Given the description of an element on the screen output the (x, y) to click on. 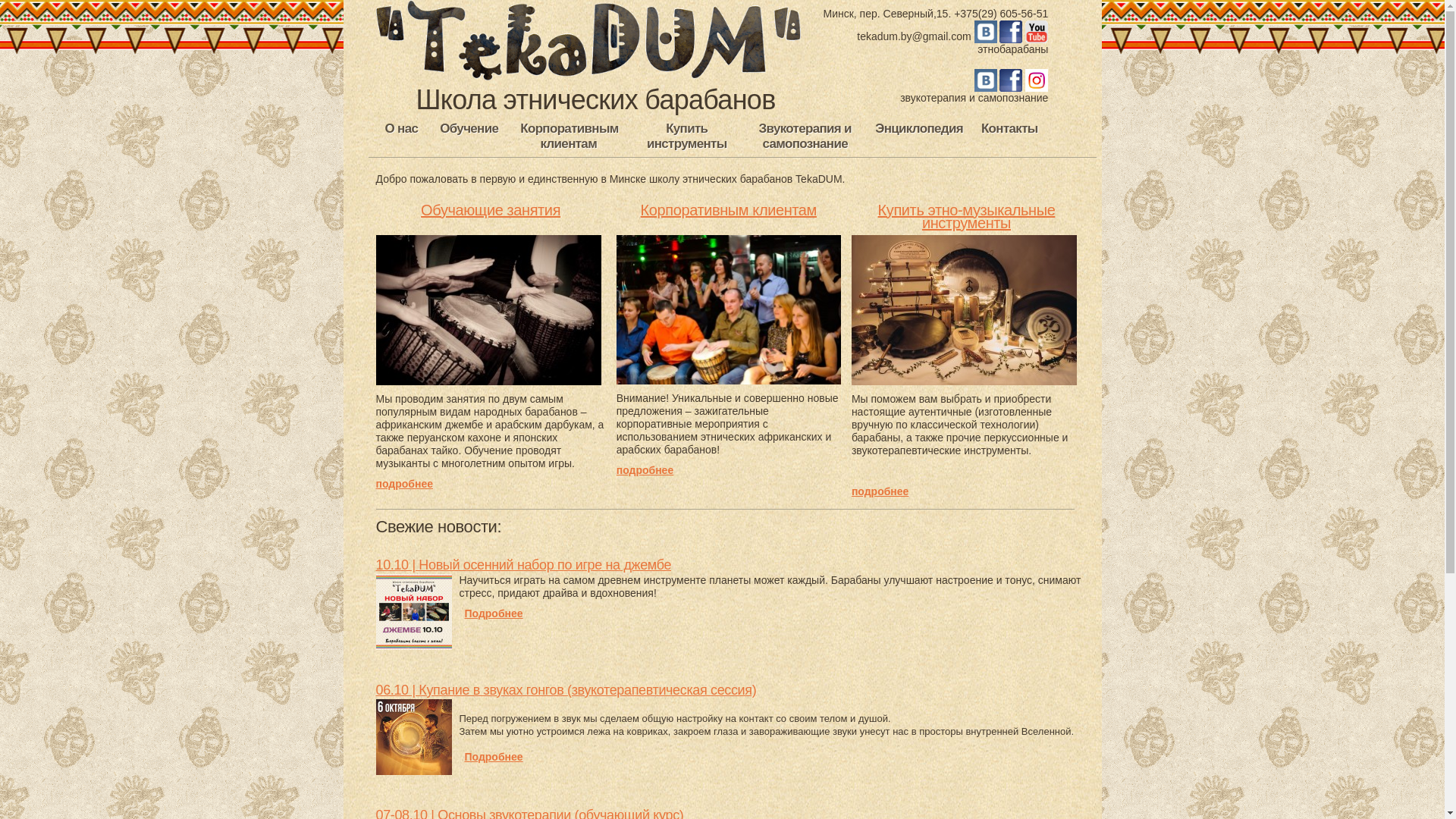
vkontakte Element type: hover (985, 36)
facebook Element type: hover (1010, 84)
facebook Element type: hover (1010, 36)
vkontakte Element type: hover (985, 84)
youtube Element type: hover (1036, 36)
instagram Element type: hover (1036, 84)
